Given the description of an element on the screen output the (x, y) to click on. 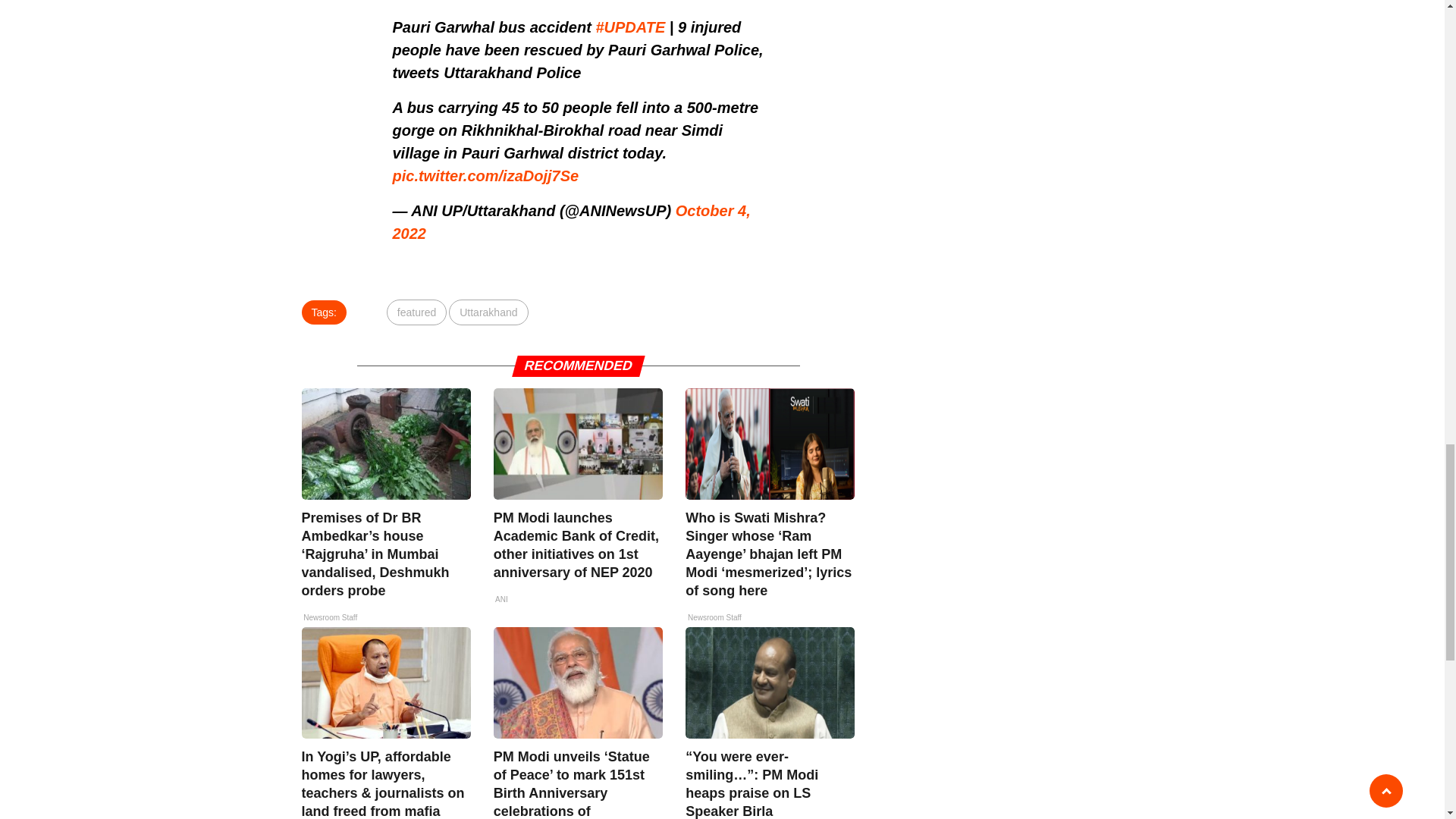
featured (416, 312)
October 4, 2022 (572, 221)
Uttarakhand (487, 312)
